Given the description of an element on the screen output the (x, y) to click on. 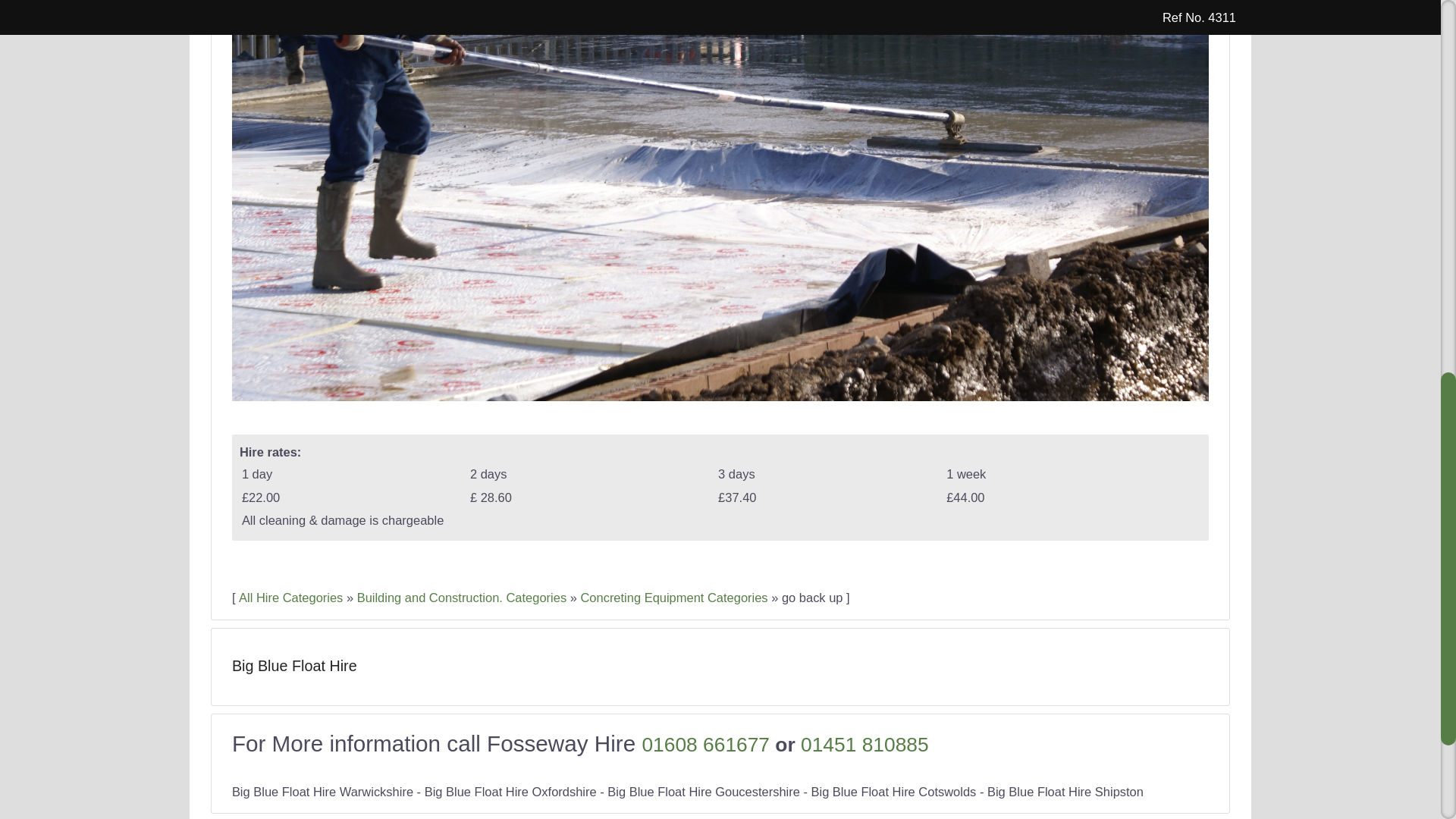
01451 810885 (864, 744)
All Hire Categories (290, 597)
Concreting Equipment Categories (673, 597)
Concreting Equipment Categories (673, 597)
Building and Construction. Categories (461, 597)
Building and Construction. Categories (461, 597)
01608 661677 (706, 744)
All Hire Categories (290, 597)
